Given the description of an element on the screen output the (x, y) to click on. 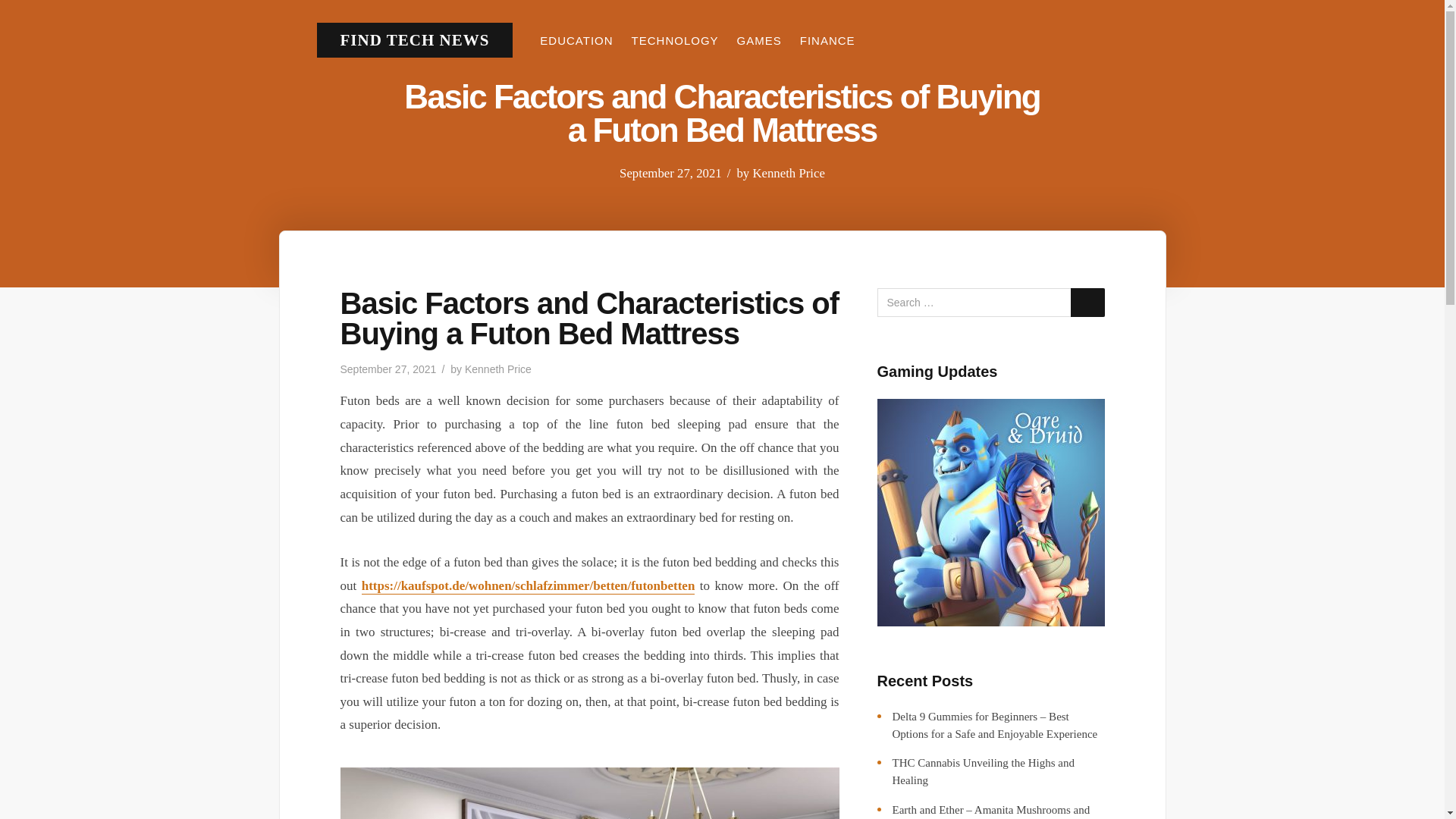
Kenneth Price (788, 173)
FIND TECH NEWS (414, 40)
September 27, 2021 (387, 369)
September 27, 2021 (671, 173)
Search for: (989, 302)
FINANCE (827, 40)
TECHNOLOGY (674, 40)
GAMES (759, 40)
EDUCATION (575, 40)
THC Cannabis Unveiling the Highs and Healing (982, 771)
Kenneth Price (497, 369)
